Given the description of an element on the screen output the (x, y) to click on. 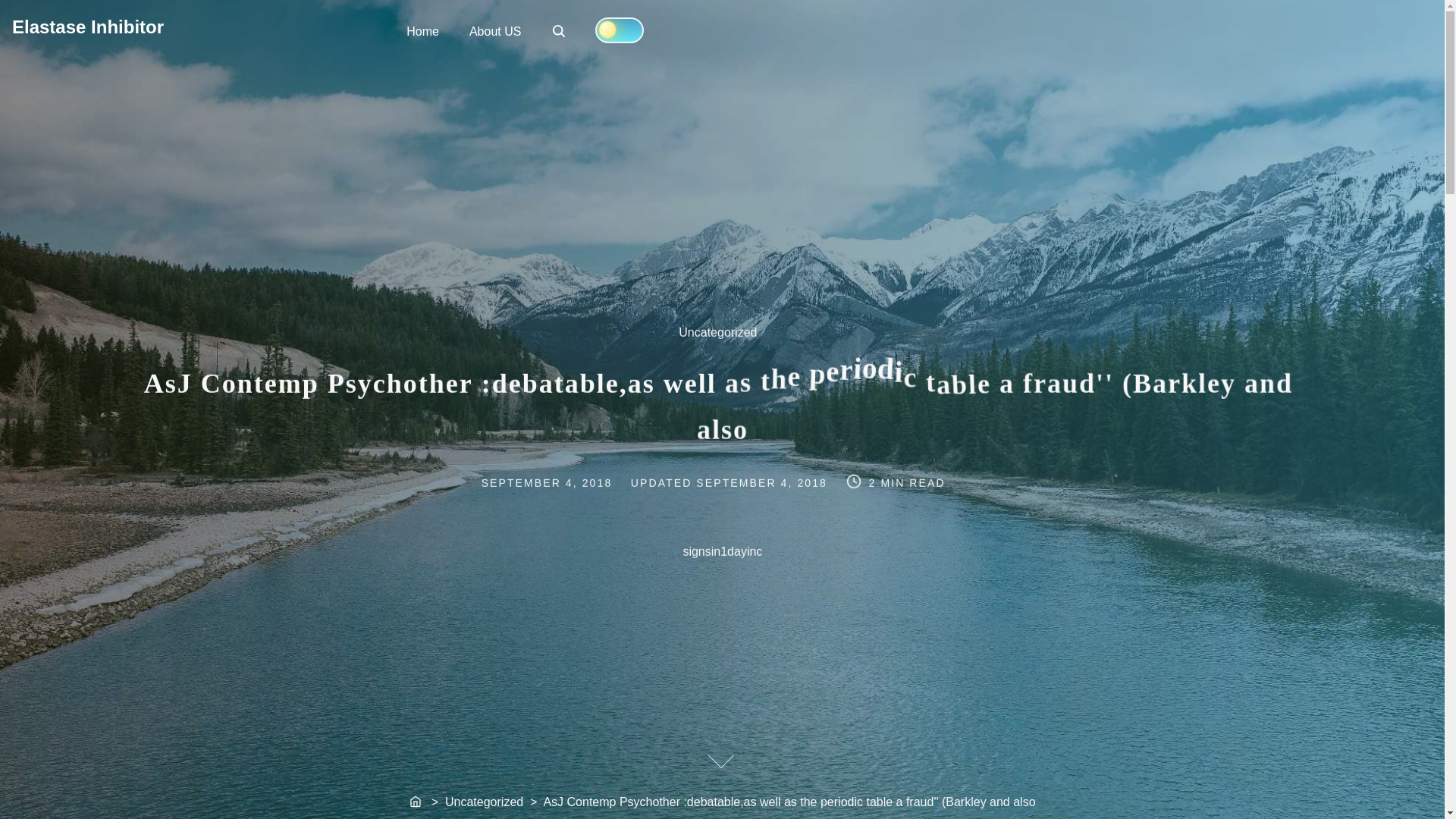
Home (416, 802)
Elastase Inhibitor (87, 26)
About US (494, 30)
Uncategorized (724, 340)
Search (558, 30)
SEPTEMBER 4, 2018 (559, 31)
SEPTEMBER 4, 2018 (562, 480)
Home (762, 480)
